Given the description of an element on the screen output the (x, y) to click on. 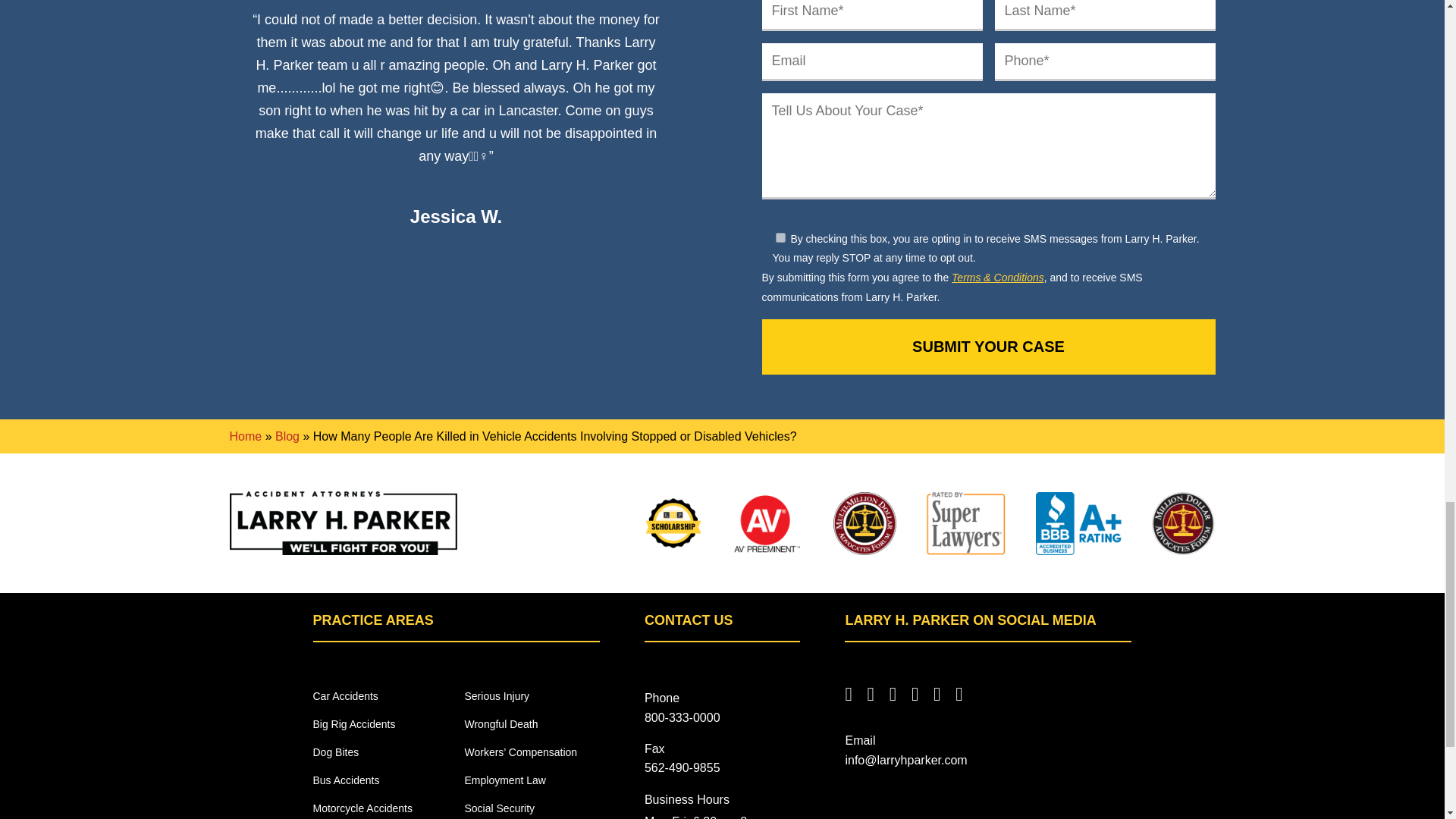
Multi Million Dollar Advocates (1182, 523)
Multi Million Dollar Forum (863, 523)
scholarship (673, 523)
Submit Your Case (987, 346)
AV Preeminent (767, 523)
Super Lawyers  (966, 523)
